Given the description of an element on the screen output the (x, y) to click on. 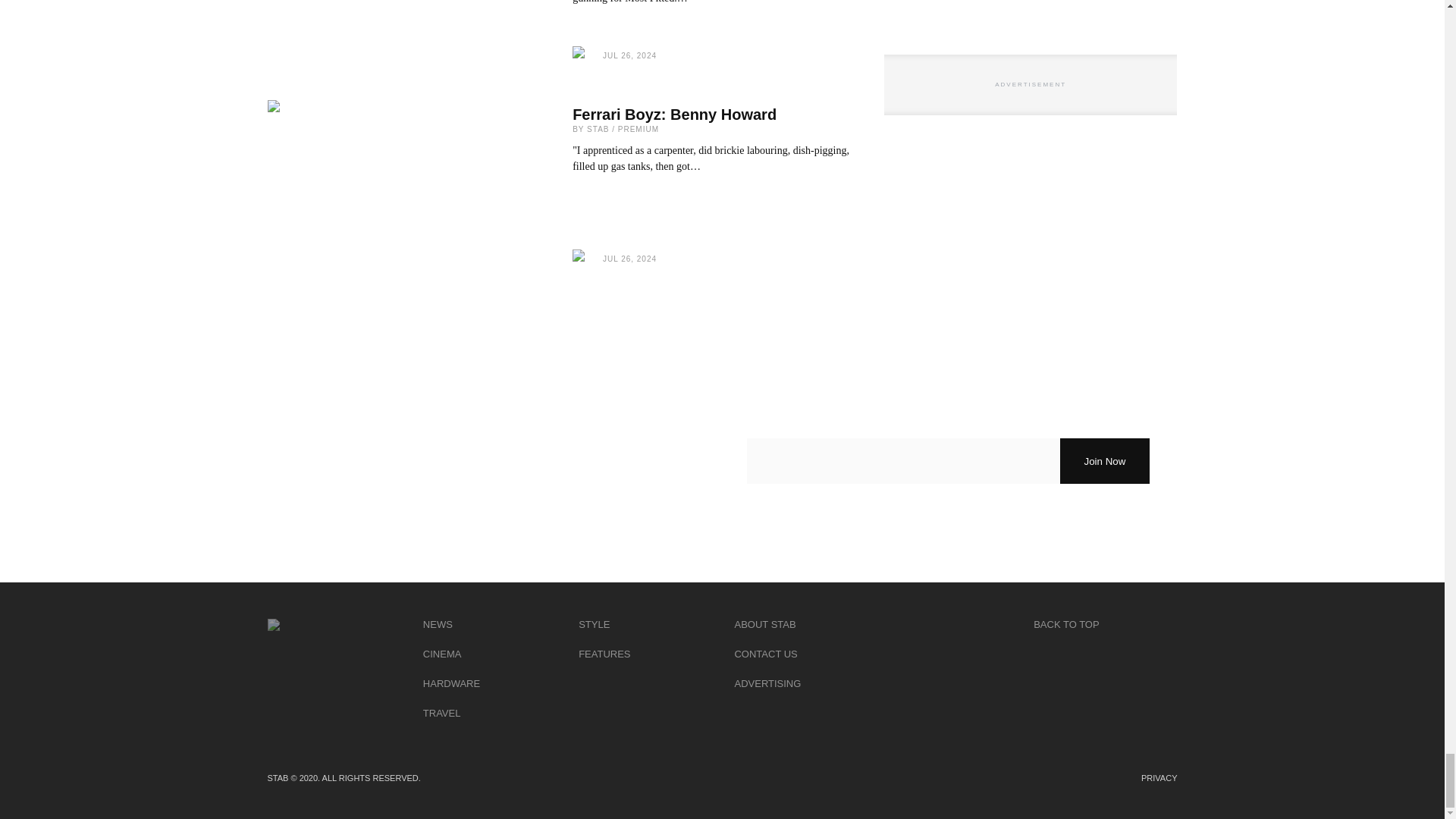
Join Now (1104, 461)
